Given the description of an element on the screen output the (x, y) to click on. 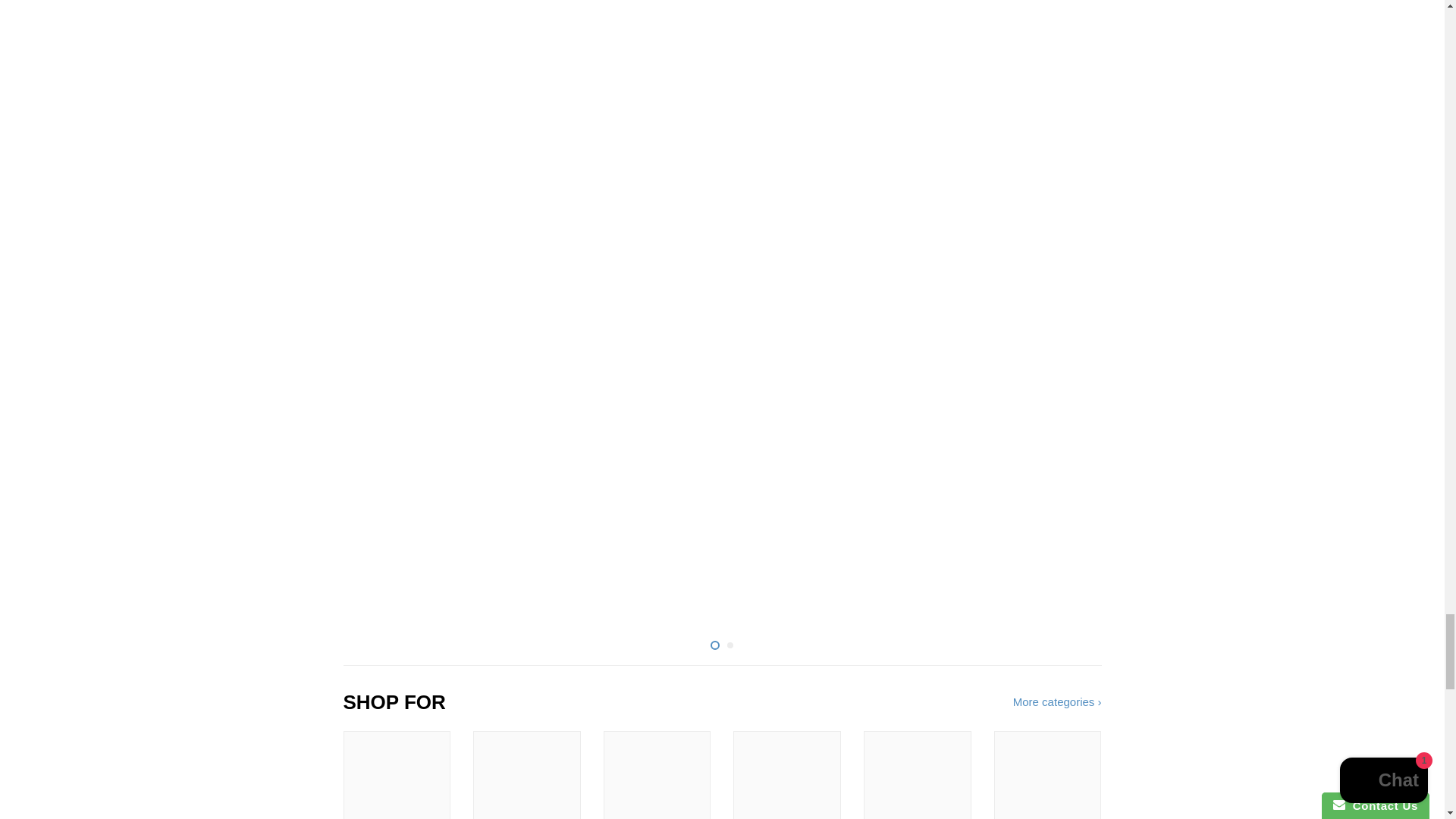
Browse our Fluid Only collection (657, 775)
Browse our Record Cleaning Kits collection (395, 775)
Browse our A to Z filing Sets collection (526, 775)
Browse our Large Volume Record Cleaner collection (917, 775)
Browse our Gloves collection (787, 775)
